Given the description of an element on the screen output the (x, y) to click on. 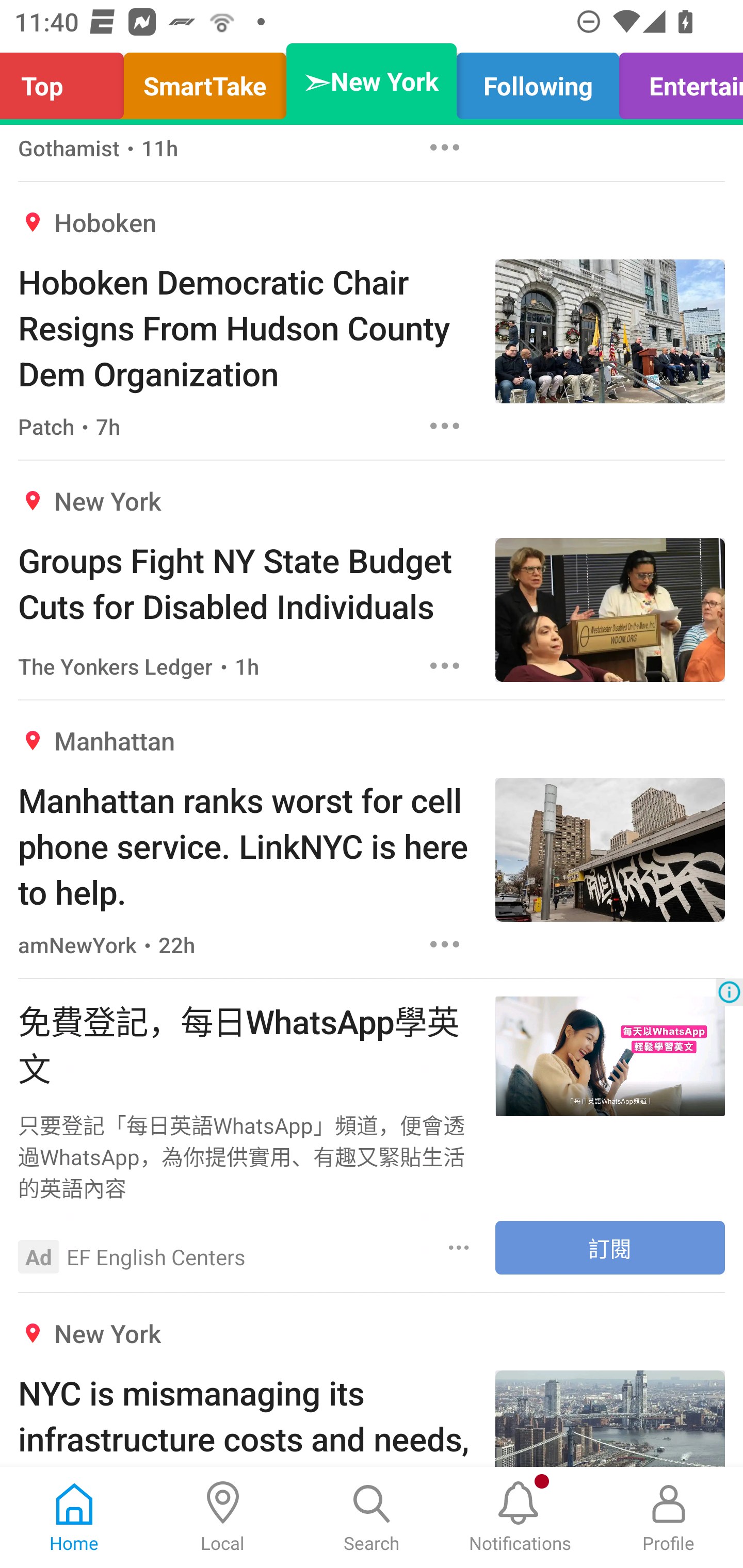
Top (67, 81)
SmartTake (204, 81)
➣New York (371, 81)
Following (537, 81)
Options (444, 147)
Options (444, 426)
Options (444, 665)
Options (444, 943)
Ad Choices Icon (729, 991)
免費登記，每日WhatsApp學英文 (247, 1043)
訂閱 (610, 1247)
Options (459, 1247)
EF English Centers (155, 1256)
Local (222, 1517)
Search (371, 1517)
Notifications, New notification Notifications (519, 1517)
Profile (668, 1517)
